Given the description of an element on the screen output the (x, y) to click on. 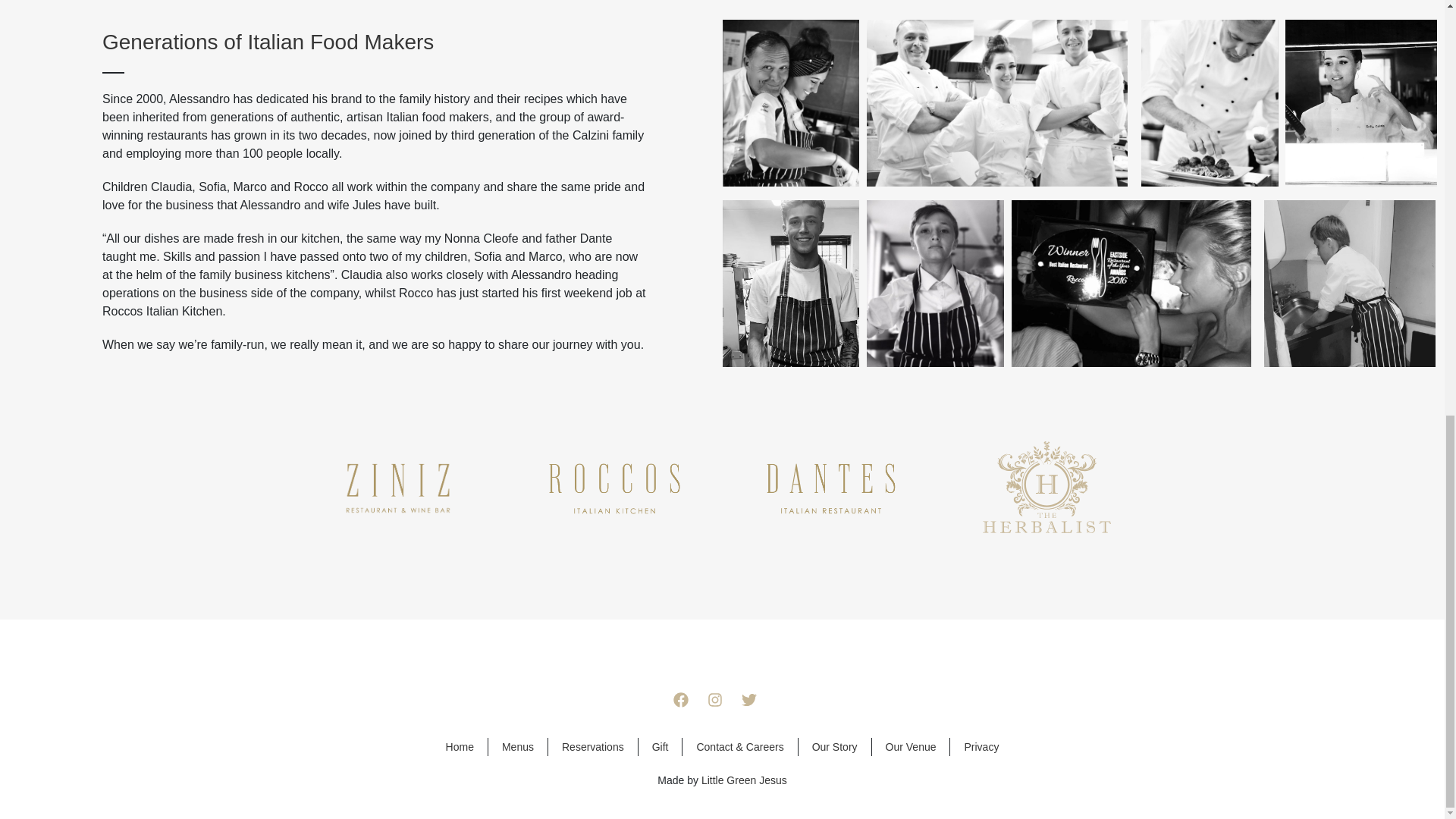
Privacy (980, 746)
Home (459, 746)
Our Story (834, 746)
Little Green Jesus (744, 779)
Our Venue (910, 746)
Gift (660, 746)
Reservations (593, 746)
Menus (518, 746)
